Given the description of an element on the screen output the (x, y) to click on. 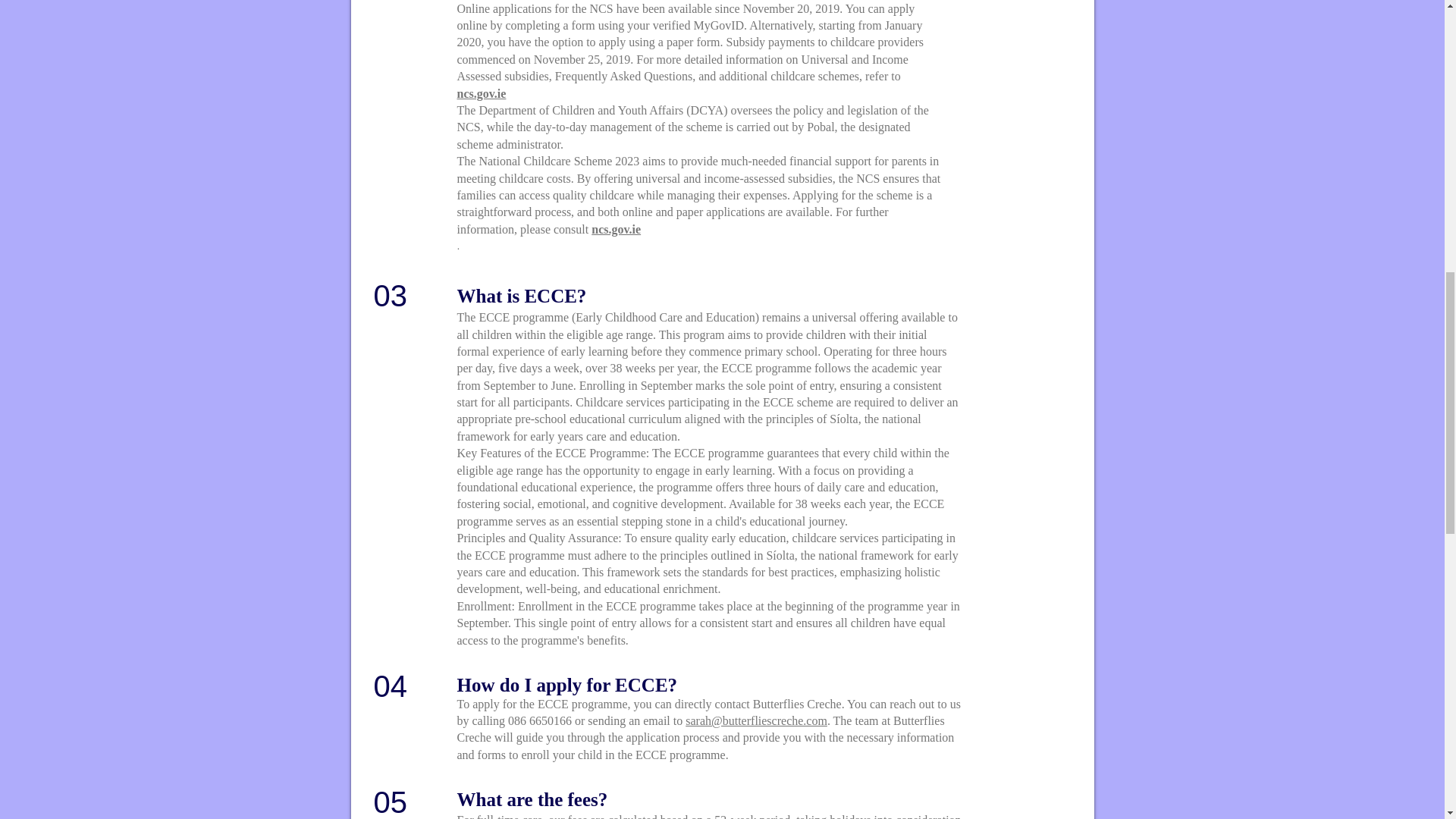
ncs.gov.ie (481, 92)
ncs.gov.ie (615, 228)
